Given the description of an element on the screen output the (x, y) to click on. 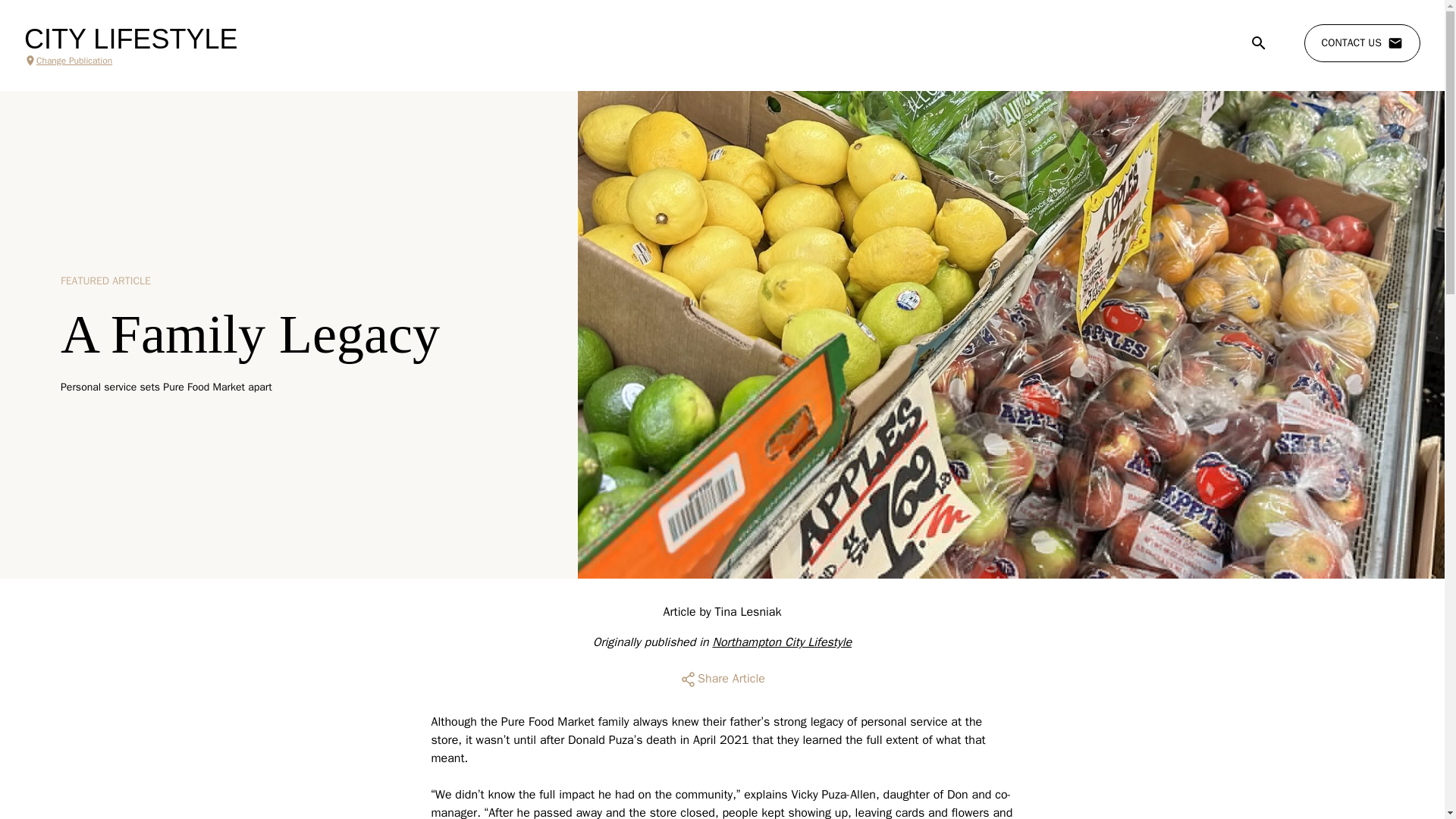
CONTACT US (1362, 43)
Share Article (722, 678)
Northampton City Lifestyle (781, 642)
CITY LIFESTYLE (130, 39)
Change Publication (130, 60)
